Given the description of an element on the screen output the (x, y) to click on. 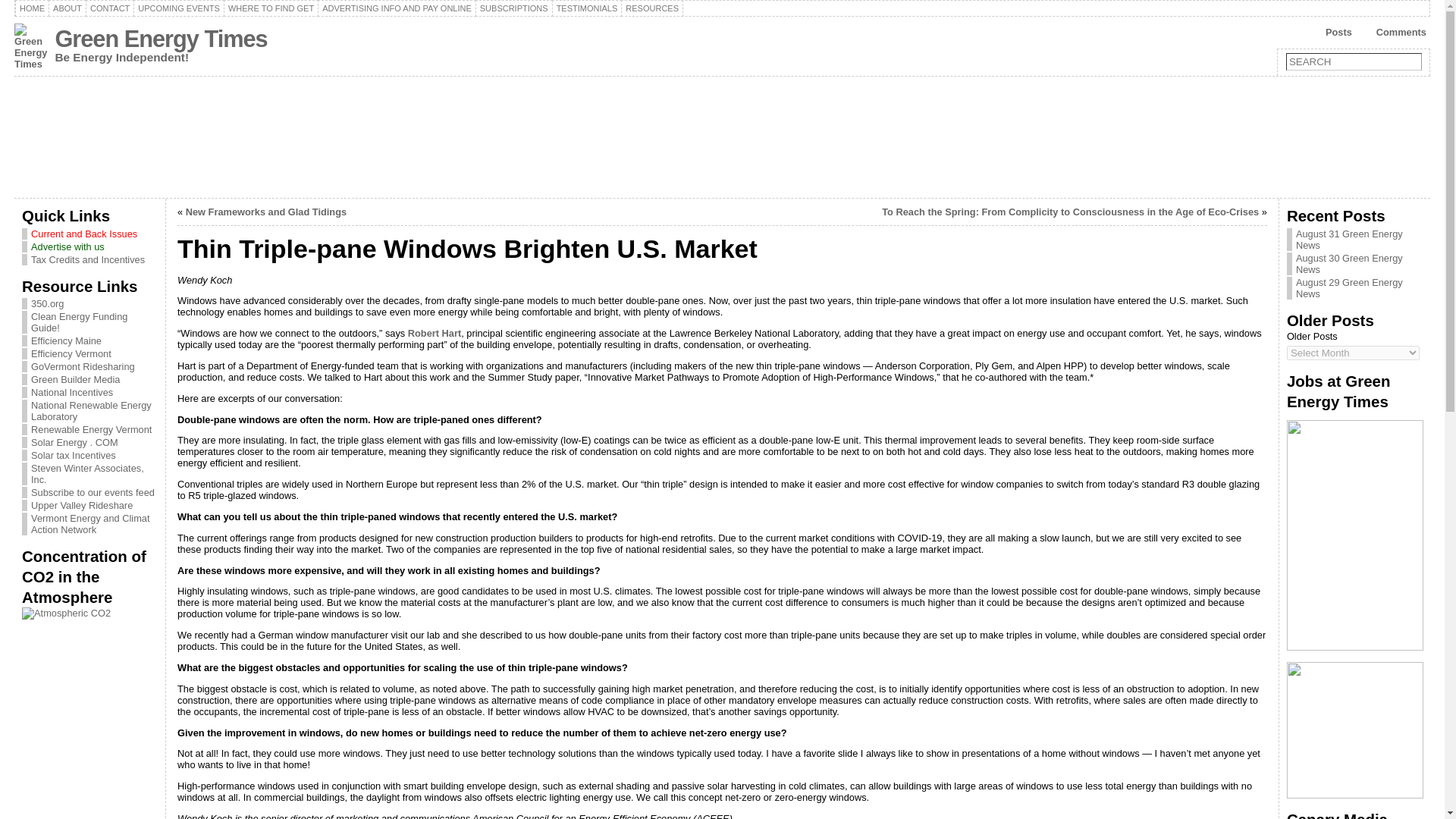
Incentive and tax rebate info in detail (90, 429)
Steven Winter Associates, Inc. (87, 473)
CONTACT (109, 8)
Subscribe to the COMMENTS feed (1392, 32)
Solar tax Incentives (73, 455)
RESOURCES (651, 8)
SUBSCRIPTIONS (514, 8)
Posts (1331, 32)
the authority on all things solar (73, 441)
SEARCH (1353, 61)
